Given the description of an element on the screen output the (x, y) to click on. 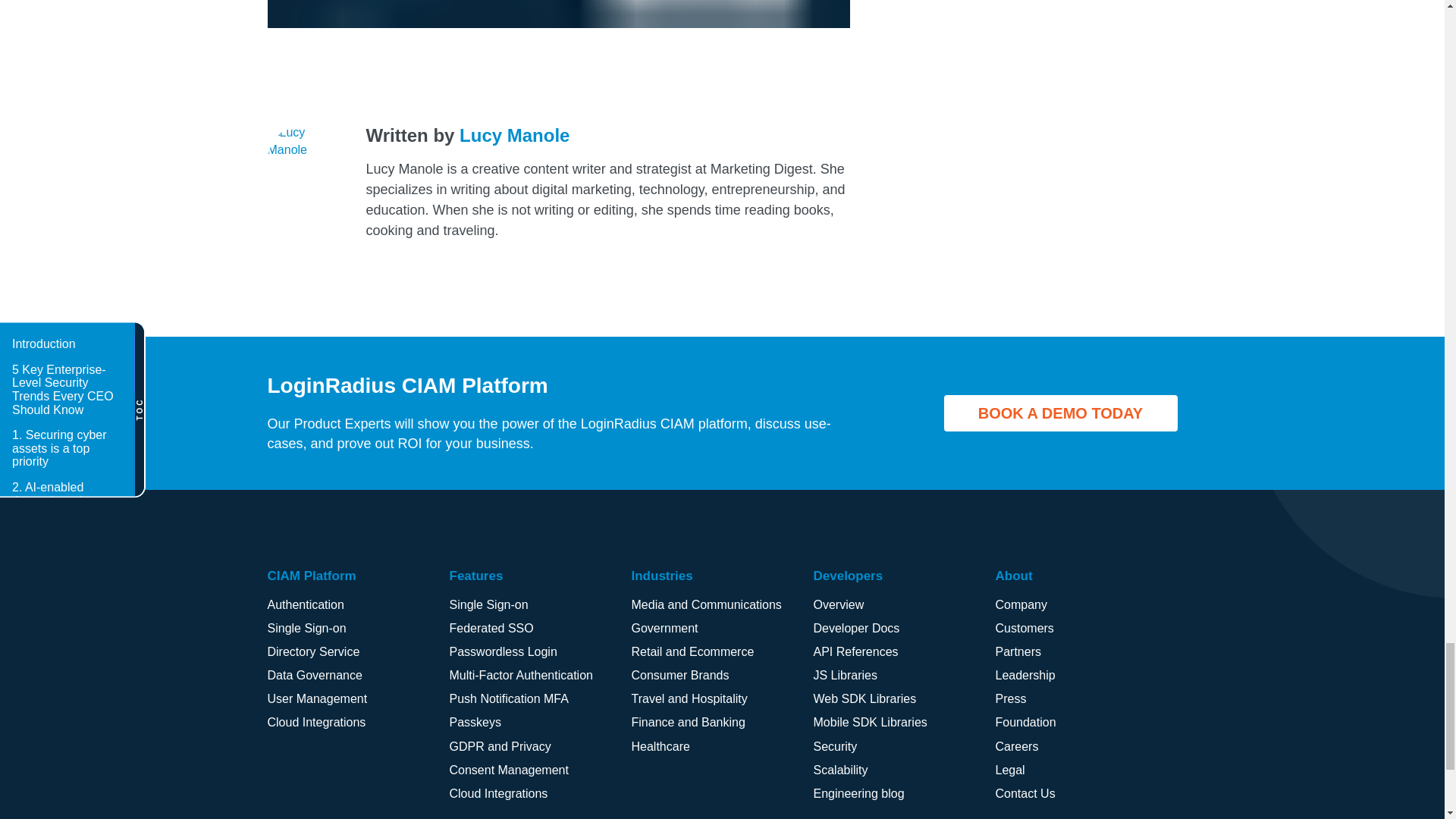
Lucy Manole (514, 135)
book-a-demo-loginradius (557, 13)
